Given the description of an element on the screen output the (x, y) to click on. 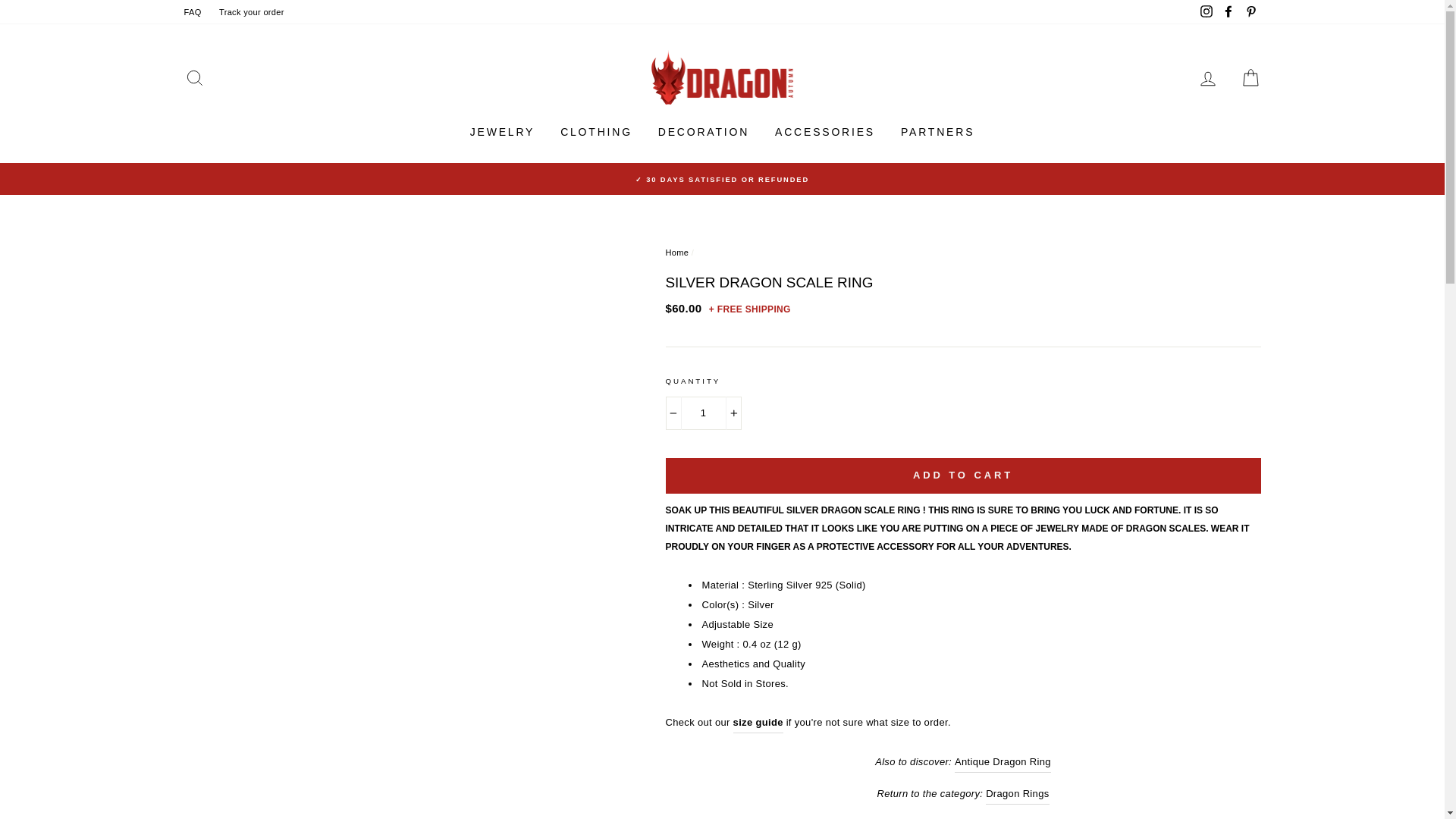
Antique Dragon Ring (1003, 762)
FAQ (192, 12)
View all dragon jewelry (963, 817)
Track your order (251, 12)
Dragon Rings (1016, 793)
Back to the frontpage (676, 252)
1 (703, 412)
Size Ring (758, 722)
